Given the description of an element on the screen output the (x, y) to click on. 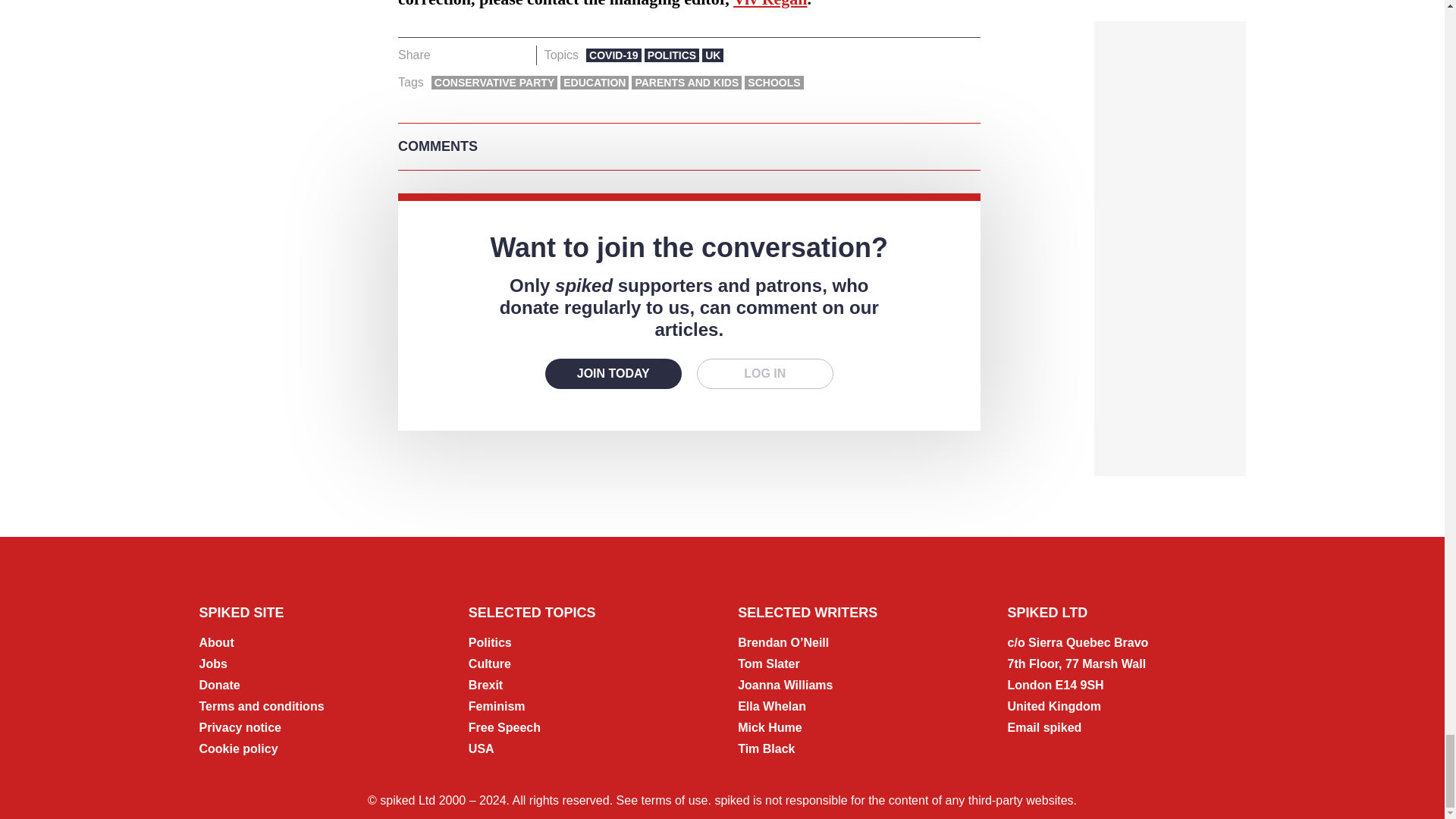
Share on Email (518, 55)
Share on Facebook (448, 55)
Share on Twitter (471, 55)
Share on Whatsapp (494, 55)
